Given the description of an element on the screen output the (x, y) to click on. 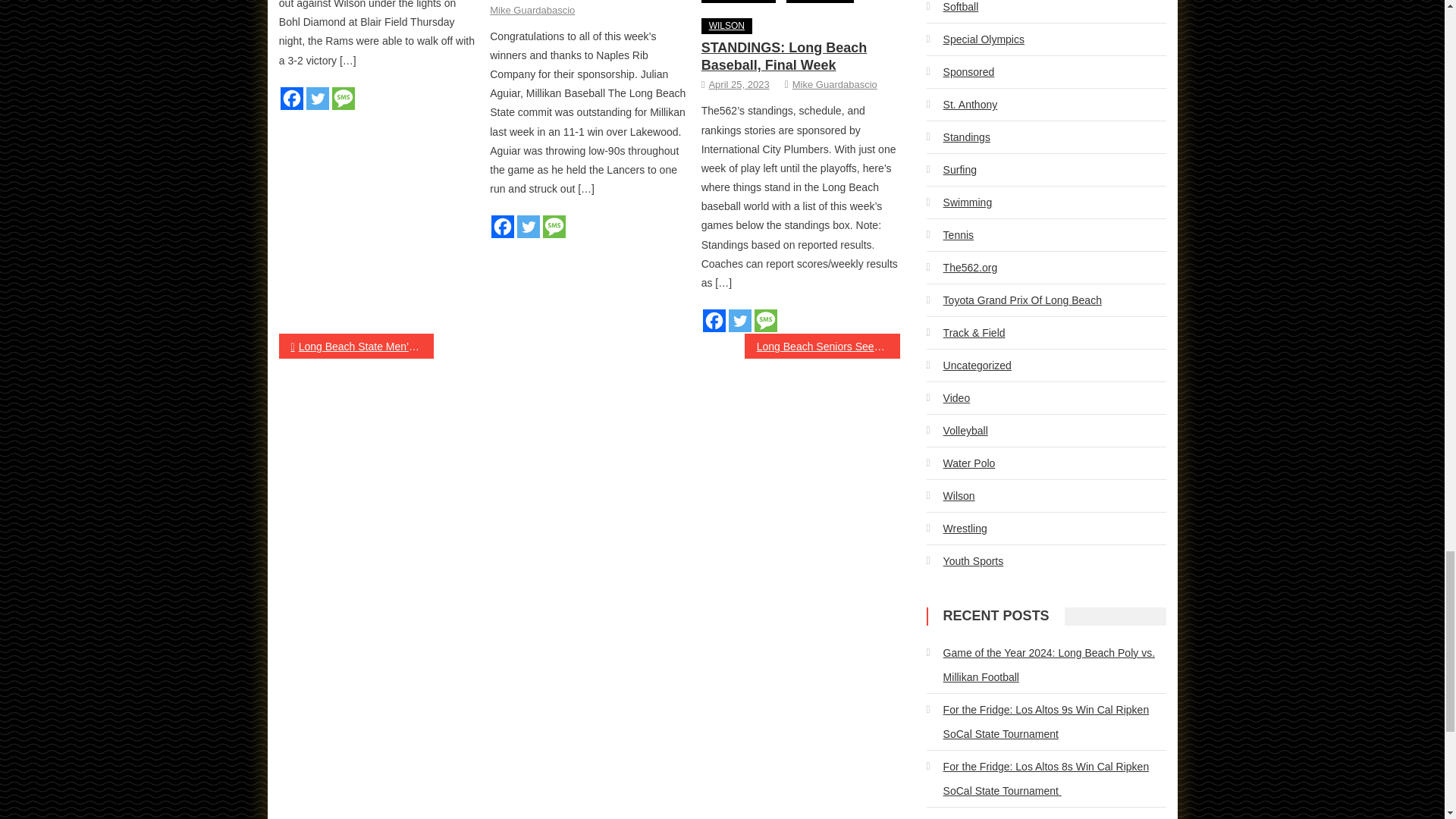
Facebook (714, 320)
SMS (765, 320)
SMS (343, 97)
Facebook (502, 226)
Twitter (528, 226)
Facebook (291, 97)
Twitter (317, 97)
SMS (554, 226)
Twitter (740, 320)
